Given the description of an element on the screen output the (x, y) to click on. 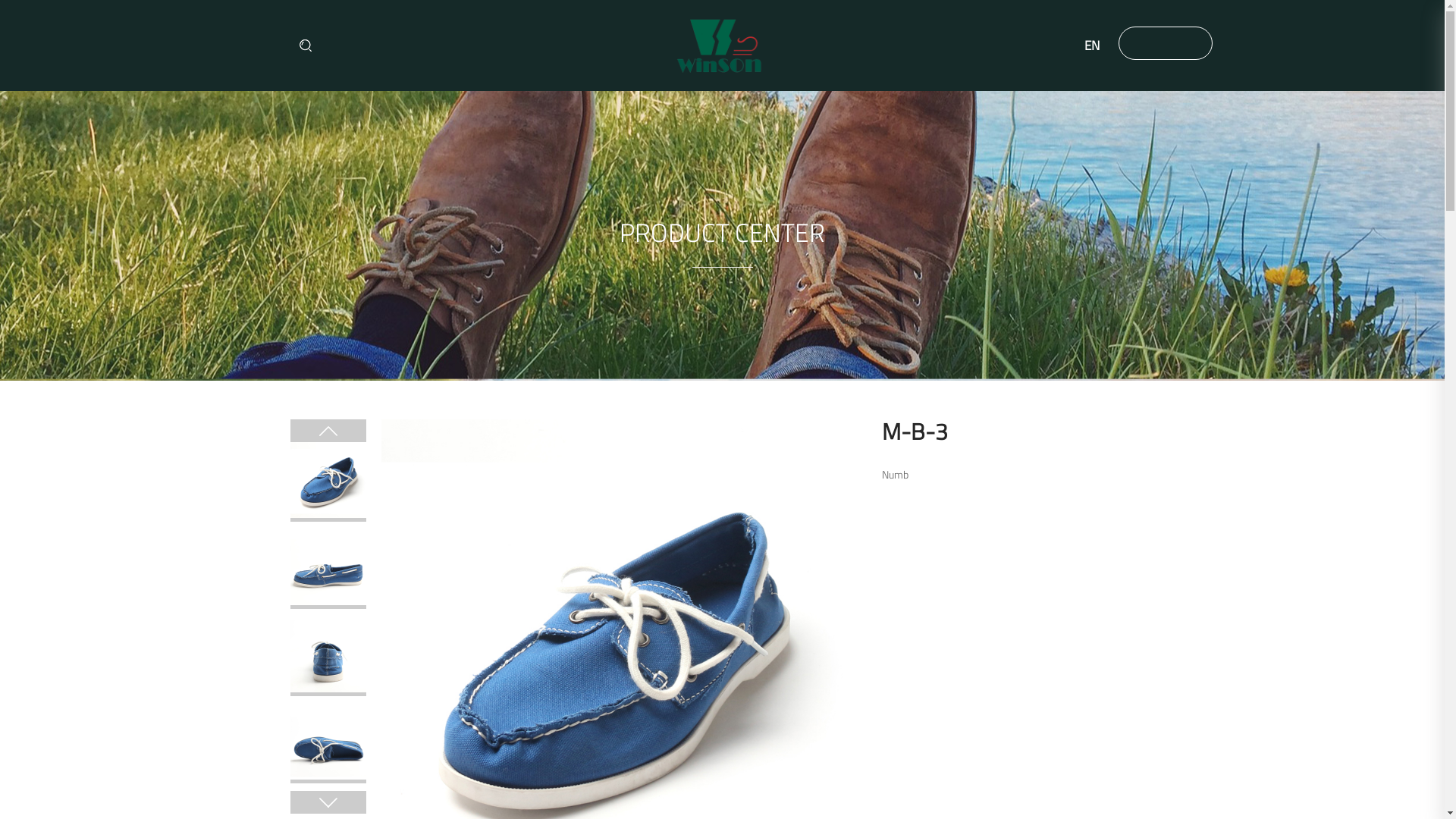
EN Element type: text (1091, 45)
